Given the description of an element on the screen output the (x, y) to click on. 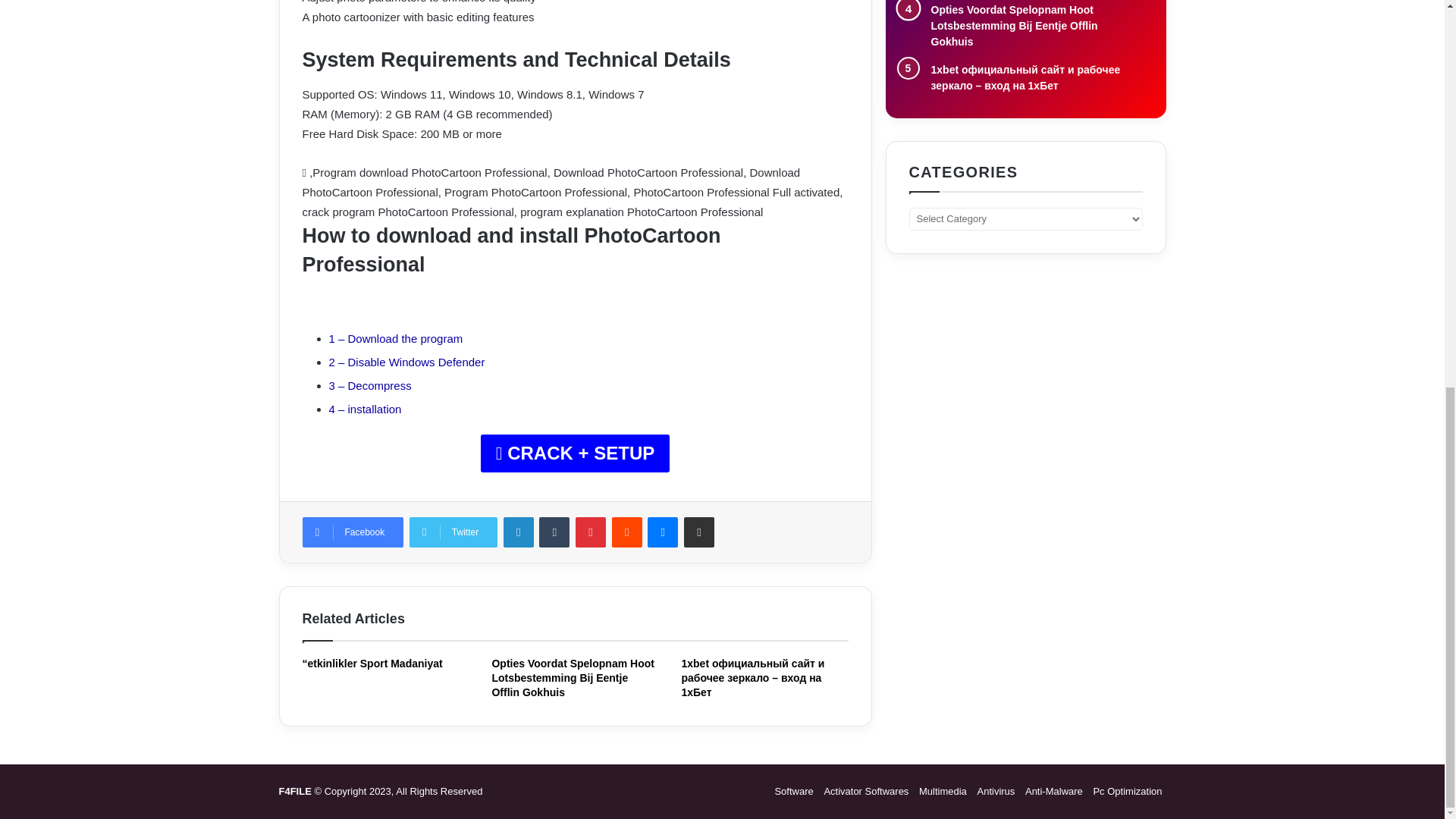
Pinterest (590, 531)
Reddit (626, 531)
LinkedIn (518, 531)
LinkedIn (518, 531)
Facebook (352, 531)
Tumblr (553, 531)
Tumblr (553, 531)
Reddit (626, 531)
Messenger (662, 531)
Twitter (453, 531)
